Given the description of an element on the screen output the (x, y) to click on. 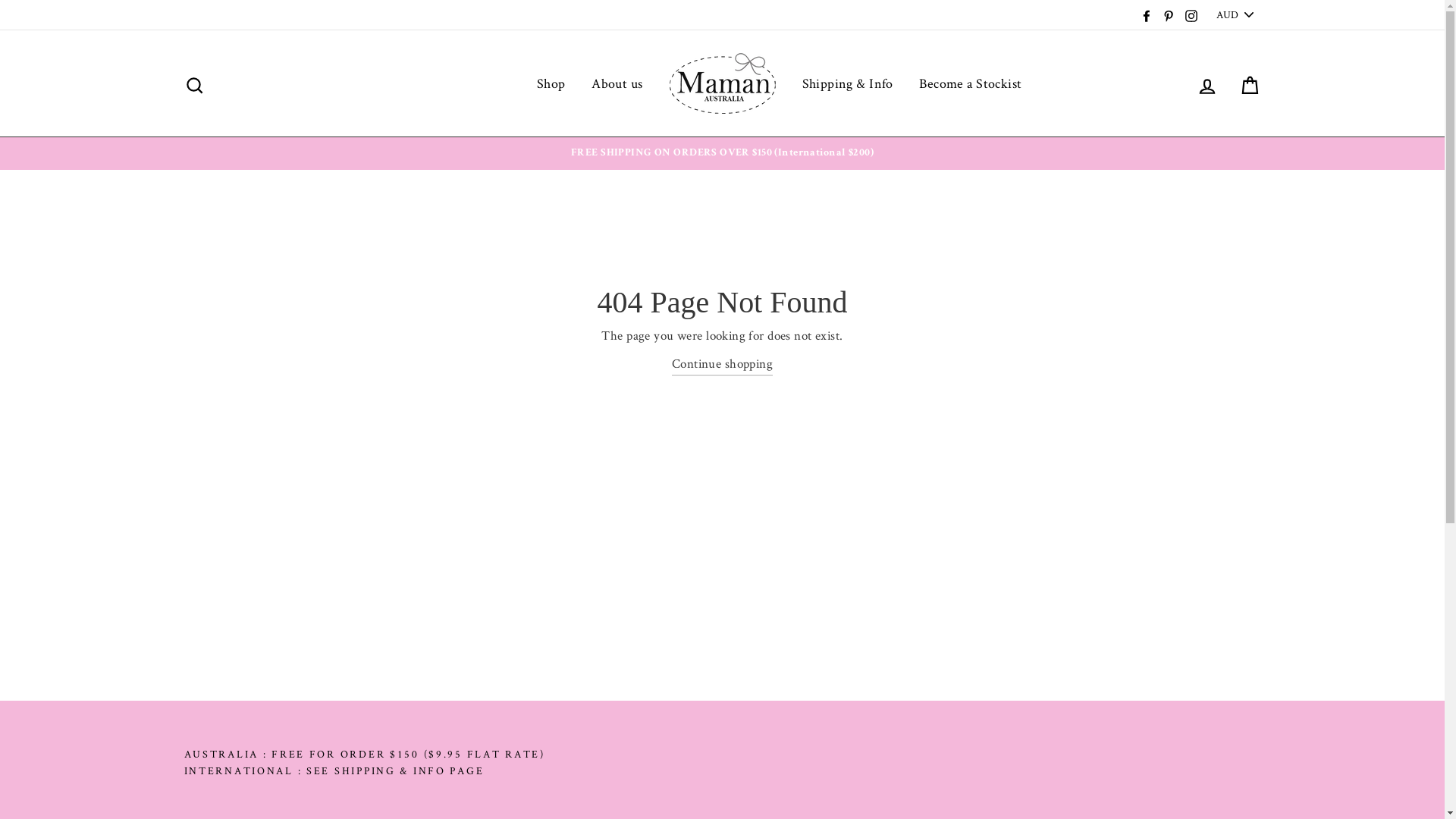
Skip to content Element type: text (0, 0)
Instagram Element type: text (1191, 14)
Facebook Element type: text (1146, 14)
Log in Element type: text (1206, 83)
Search Element type: text (193, 83)
About us Element type: text (616, 83)
Shipping & Info Element type: text (846, 83)
Cart Element type: text (1249, 83)
Pinterest Element type: text (1168, 14)
FREE SHIPPING ON ORDERS OVER $150 (International $200) Element type: text (722, 153)
Continue shopping Element type: text (721, 364)
Become a Stockist Element type: text (969, 83)
Shop Element type: text (551, 83)
